Given the description of an element on the screen output the (x, y) to click on. 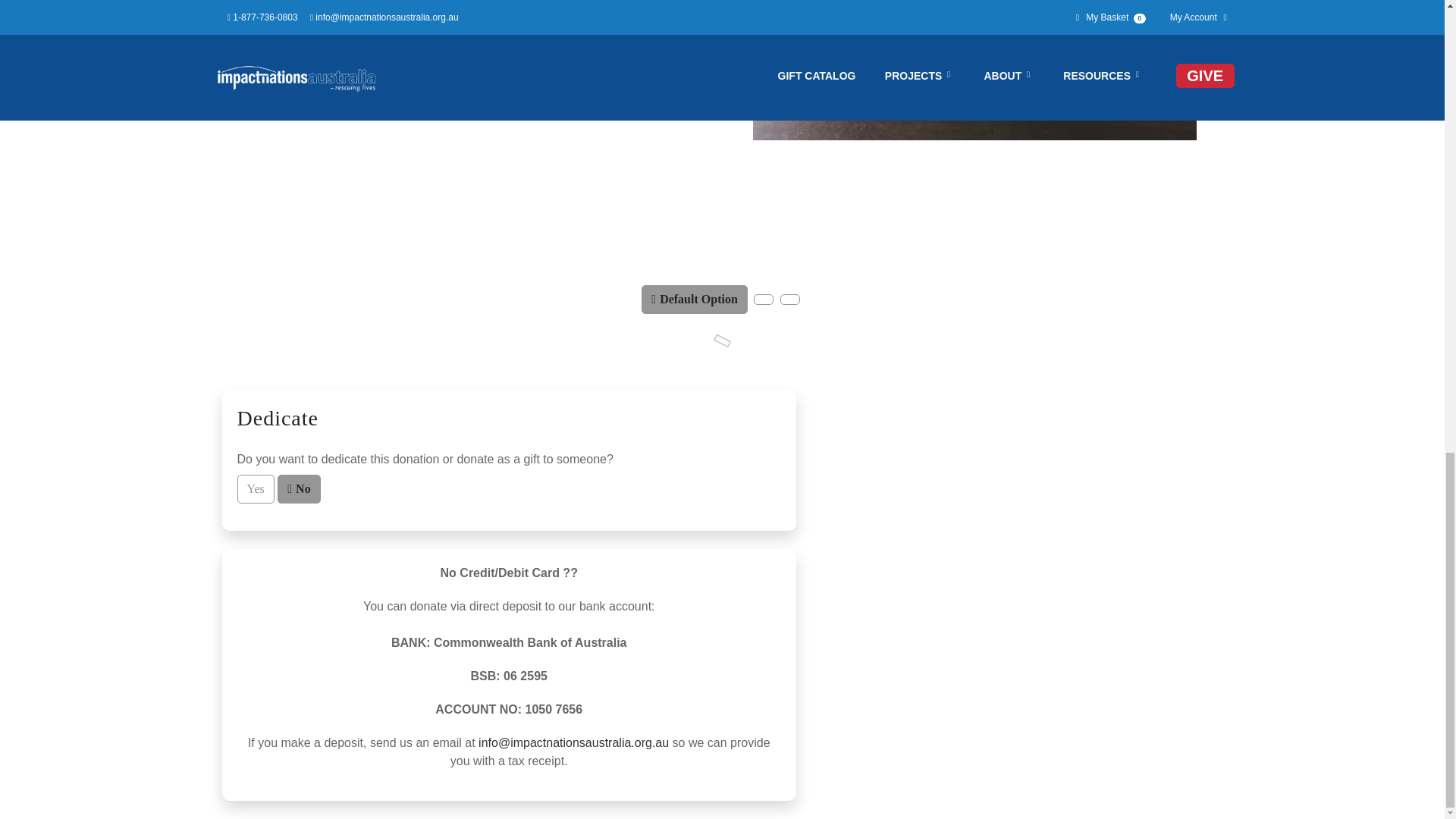
170 (664, 295)
172 (794, 304)
171 (767, 304)
0 (297, 484)
1 (252, 484)
